Given the description of an element on the screen output the (x, y) to click on. 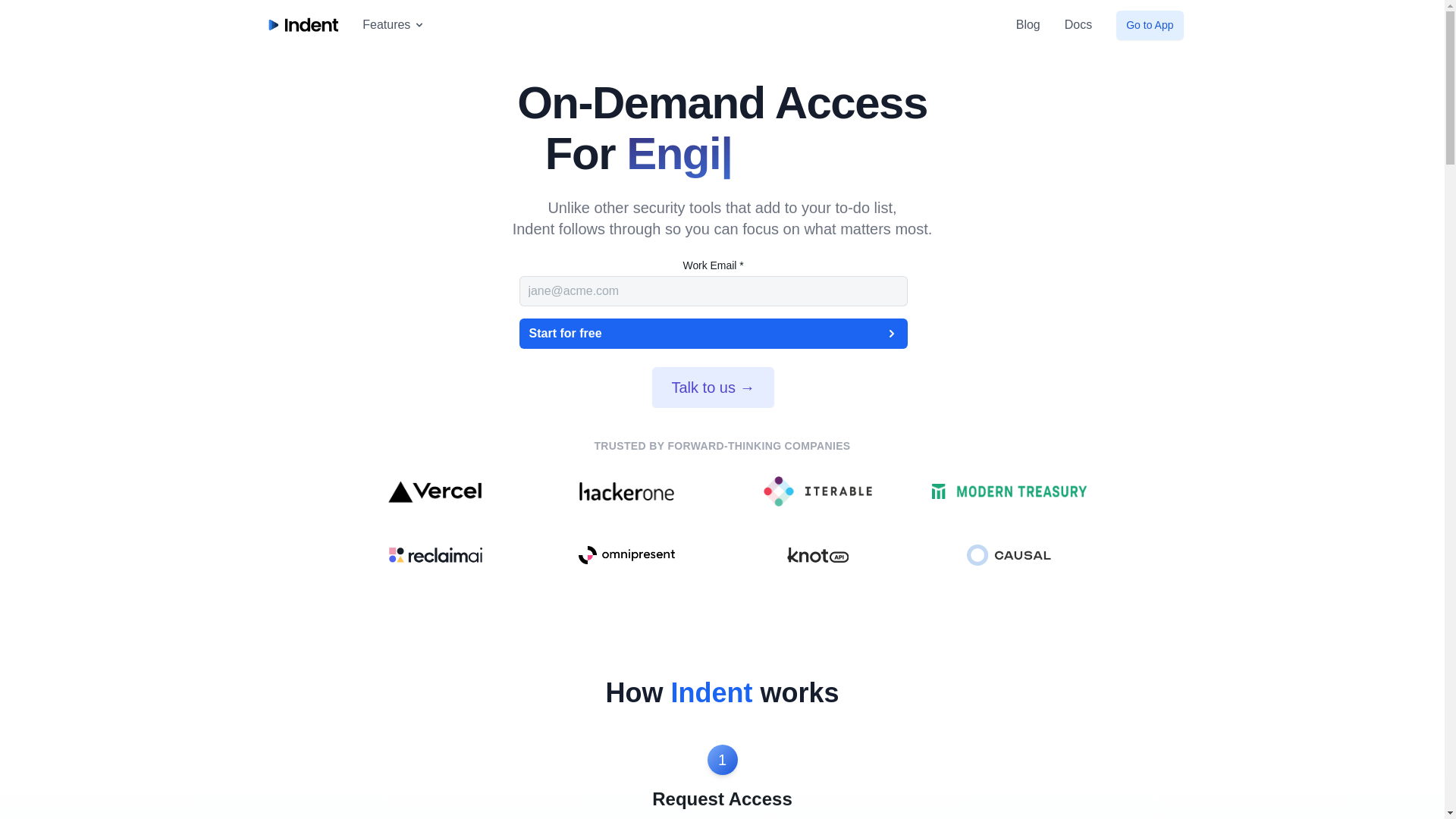
Start for free (712, 333)
Features (393, 24)
Blog (1028, 24)
Go to App (1149, 25)
Docs (1078, 24)
